Given the description of an element on the screen output the (x, y) to click on. 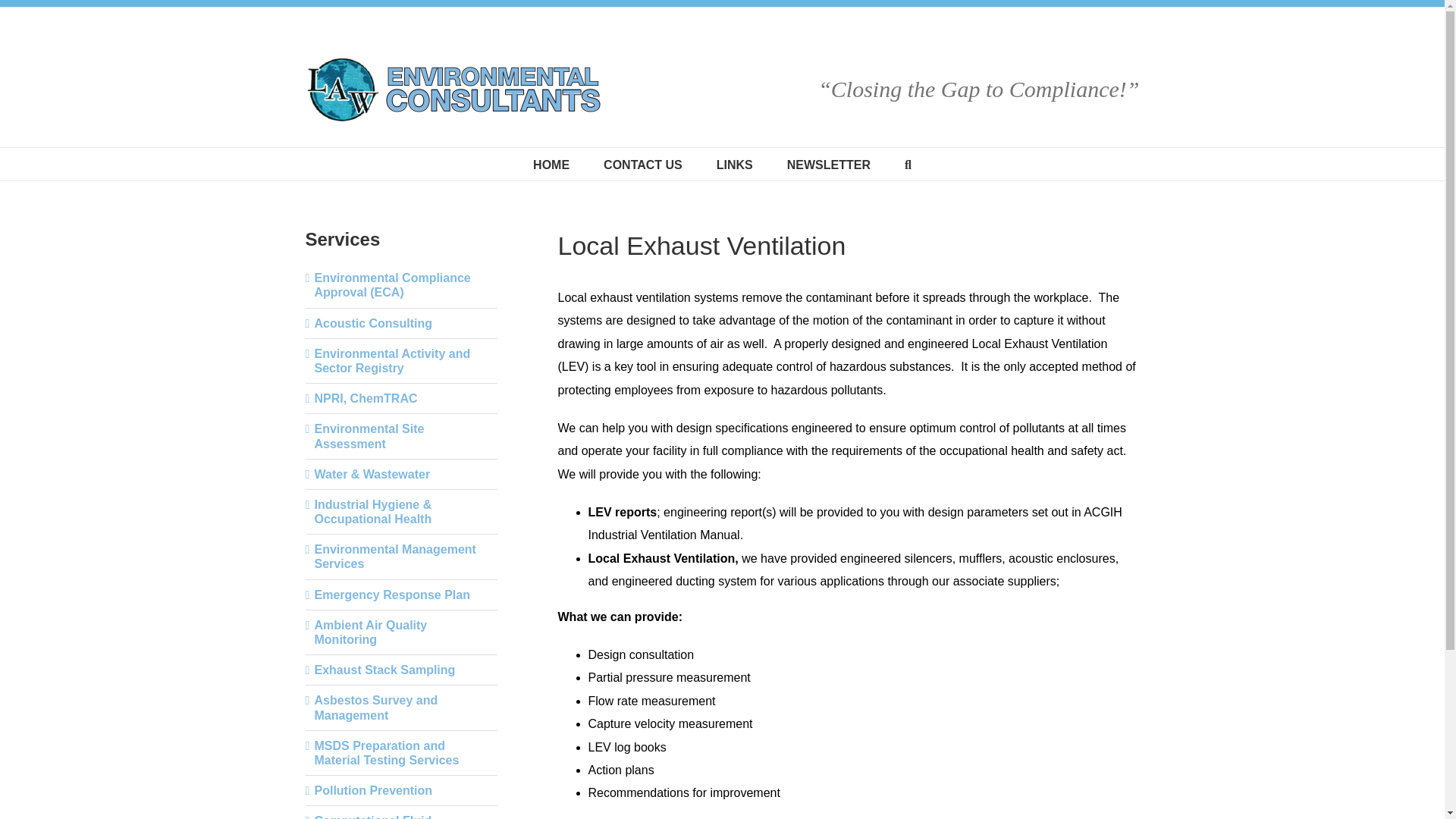
Pollution Prevention (373, 789)
NEWSLETTER (828, 164)
Exhaust Stack Sampling (384, 669)
Ambient Air Quality Monitoring (370, 632)
Asbestos Survey and Management (376, 707)
Environmental Management Services (395, 556)
CONTACT US (643, 164)
MSDS Preparation and Material Testing Services (386, 752)
Acoustic Consulting (373, 323)
Environmental Site Assessment (368, 435)
Emergency Response Plan (391, 594)
NPRI, ChemTRAC (365, 398)
LINKS (734, 164)
Environmental Activity and Sector Registry (392, 360)
HOME (550, 164)
